Given the description of an element on the screen output the (x, y) to click on. 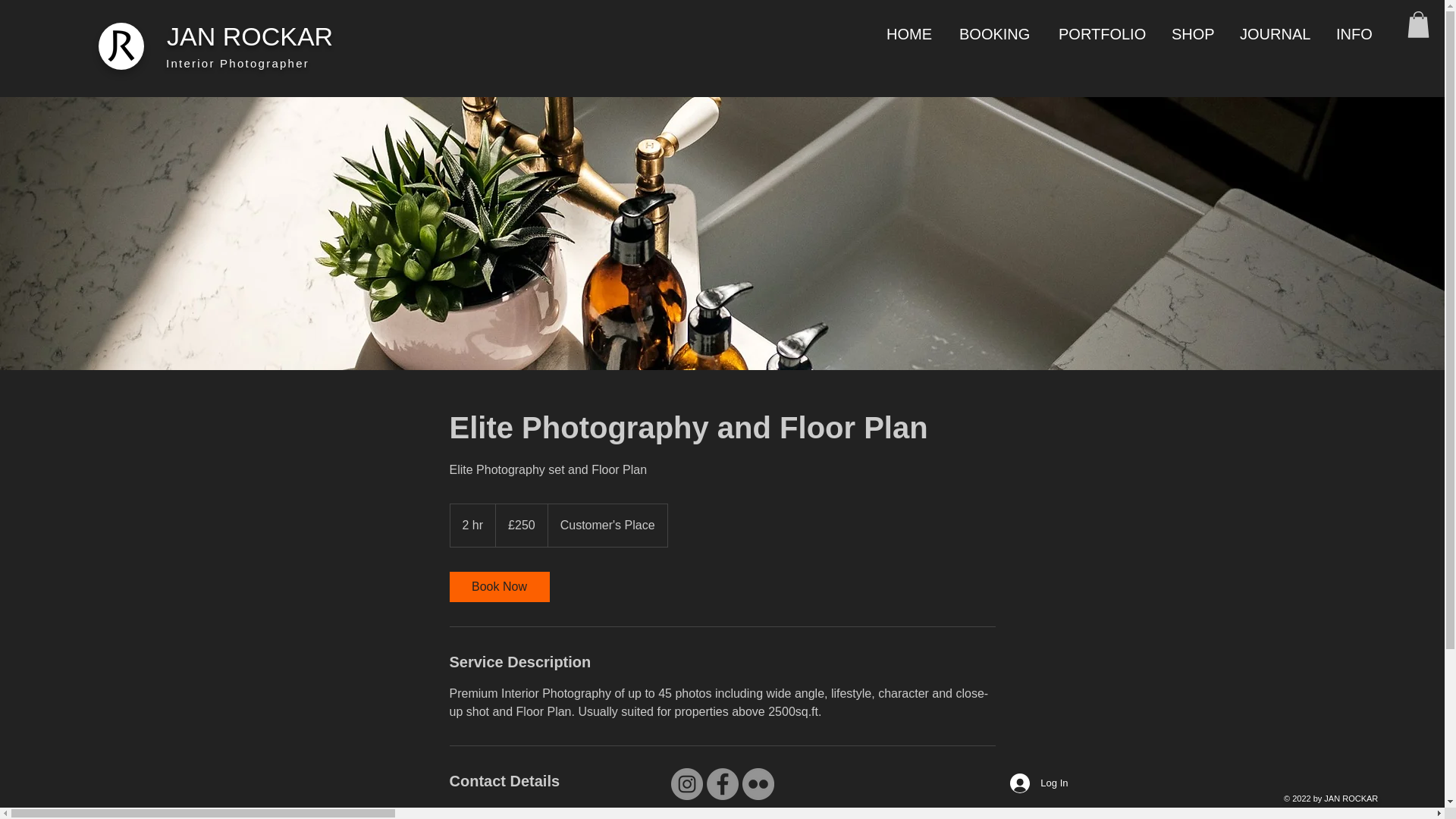
Log In (1038, 783)
INFO (1355, 33)
BOOKING (996, 33)
JOURNAL (1276, 33)
PORTFOLIO (1103, 33)
HOME (911, 33)
Book Now (498, 586)
SHOP (1194, 33)
JAN ROCKAR (250, 36)
